Given the description of an element on the screen output the (x, y) to click on. 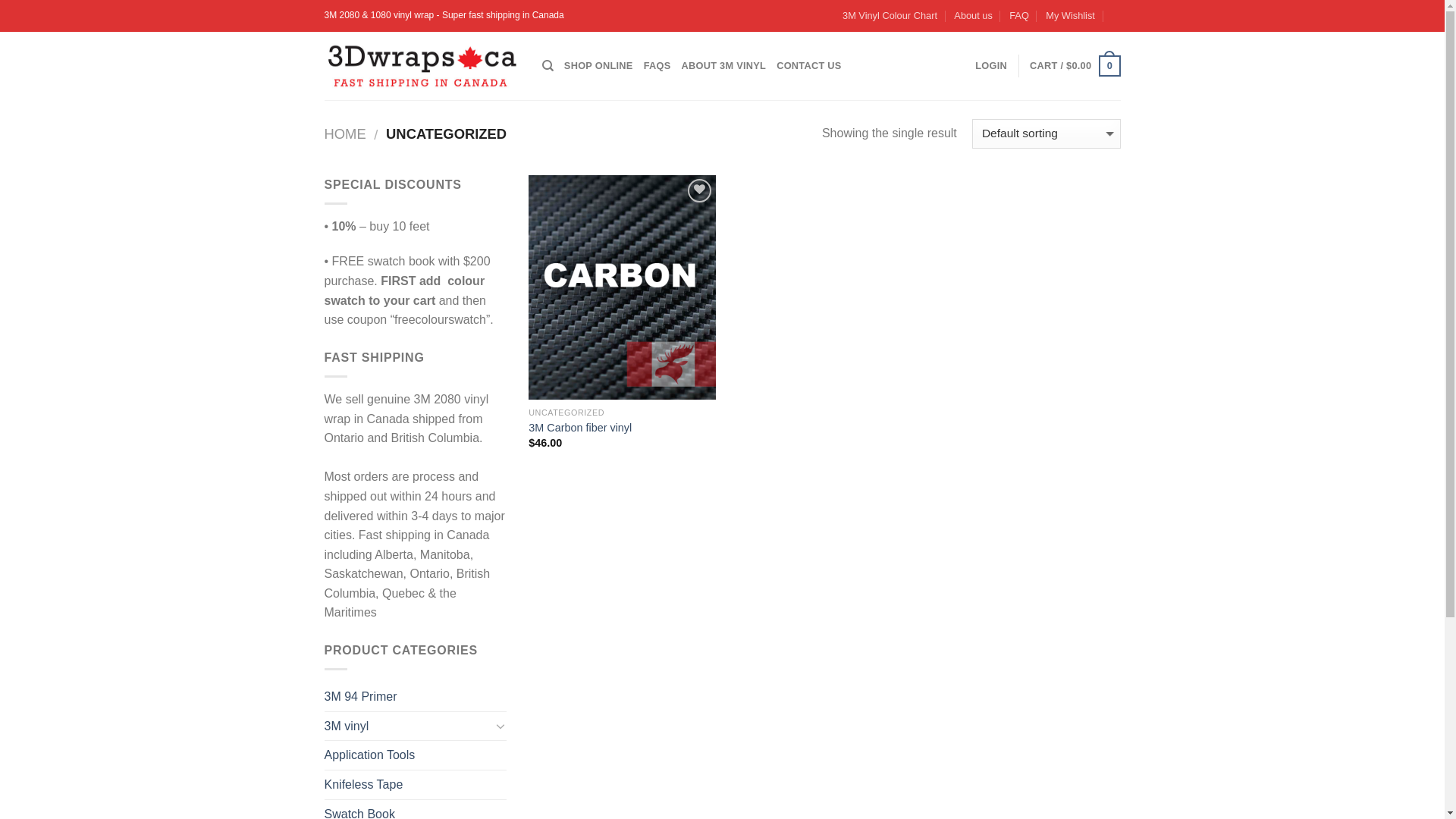
CONTACT US Element type: text (808, 65)
Knifeless Tape Element type: text (415, 784)
HOME Element type: text (345, 133)
My Wishlist Element type: text (1070, 15)
ABOUT 3M VINYL Element type: text (722, 65)
LOGIN Element type: text (991, 65)
FAQ Element type: text (1019, 15)
3M 94 Primer Element type: text (415, 696)
3Mvinylwrap.ca - 3M 1080 Vinyl Wrap in Canada Element type: hover (421, 65)
3M vinyl Element type: text (407, 726)
3M Carbon fiber vinyl Element type: text (579, 427)
Application Tools Element type: text (415, 754)
3M Vinyl Colour Chart Element type: text (889, 15)
FAQS Element type: text (657, 65)
About us Element type: text (972, 15)
SHOP ONLINE Element type: text (598, 65)
Skip to content Element type: text (0, 0)
CART / $0.00
0 Element type: text (1074, 65)
